Given the description of an element on the screen output the (x, y) to click on. 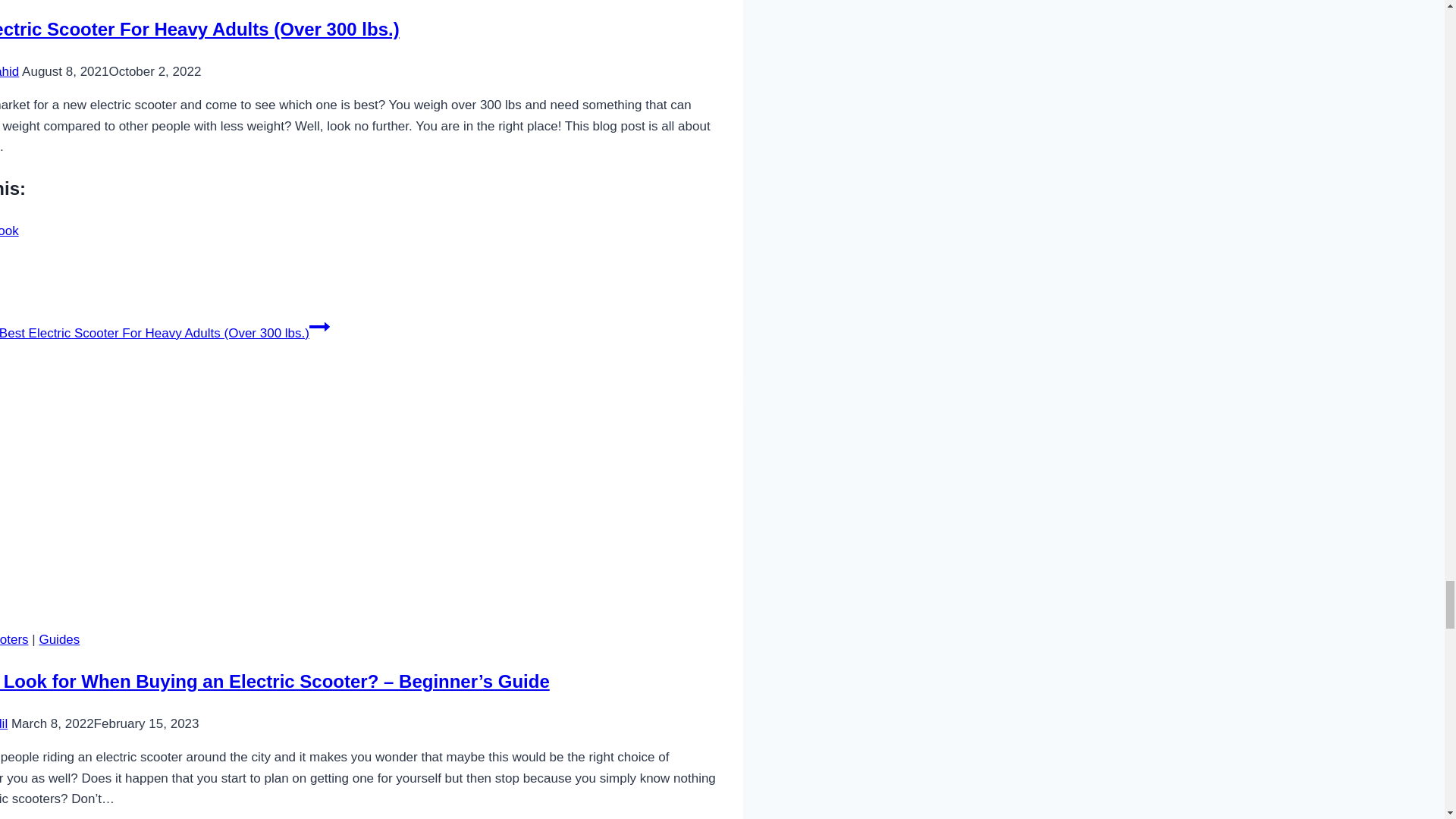
Continue (319, 326)
